Given the description of an element on the screen output the (x, y) to click on. 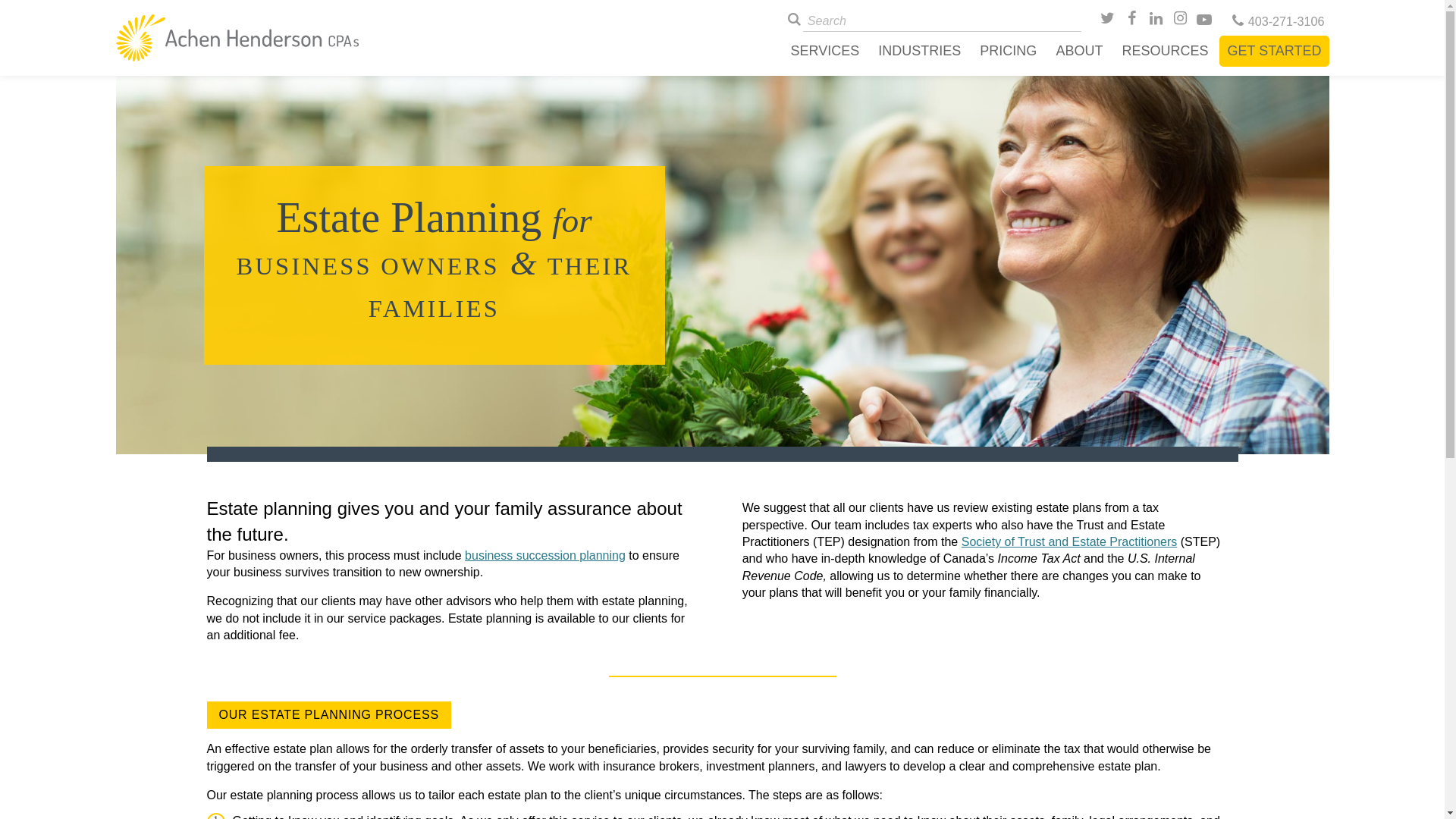
GET STARTED Element type: text (1273, 50)
403-271-3106 Element type: text (1276, 20)
INDUSTRIES Element type: text (919, 50)
SERVICES Element type: text (825, 50)
Society of Trust and Estate Practitioners Element type: text (1069, 541)
PRICING Element type: text (1008, 50)
Youtube Element type: text (1205, 20)
business succession planning Element type: text (544, 555)
ABOUT Element type: text (1079, 50)
Search Element type: text (45, 16)
@achenhenderson Element type: text (1108, 20)
RESOURCES Element type: text (1164, 50)
/AchenHenderson Element type: text (1132, 20)
Instagram Element type: text (1181, 20)
LinkedIn Element type: text (1157, 20)
